Given the description of an element on the screen output the (x, y) to click on. 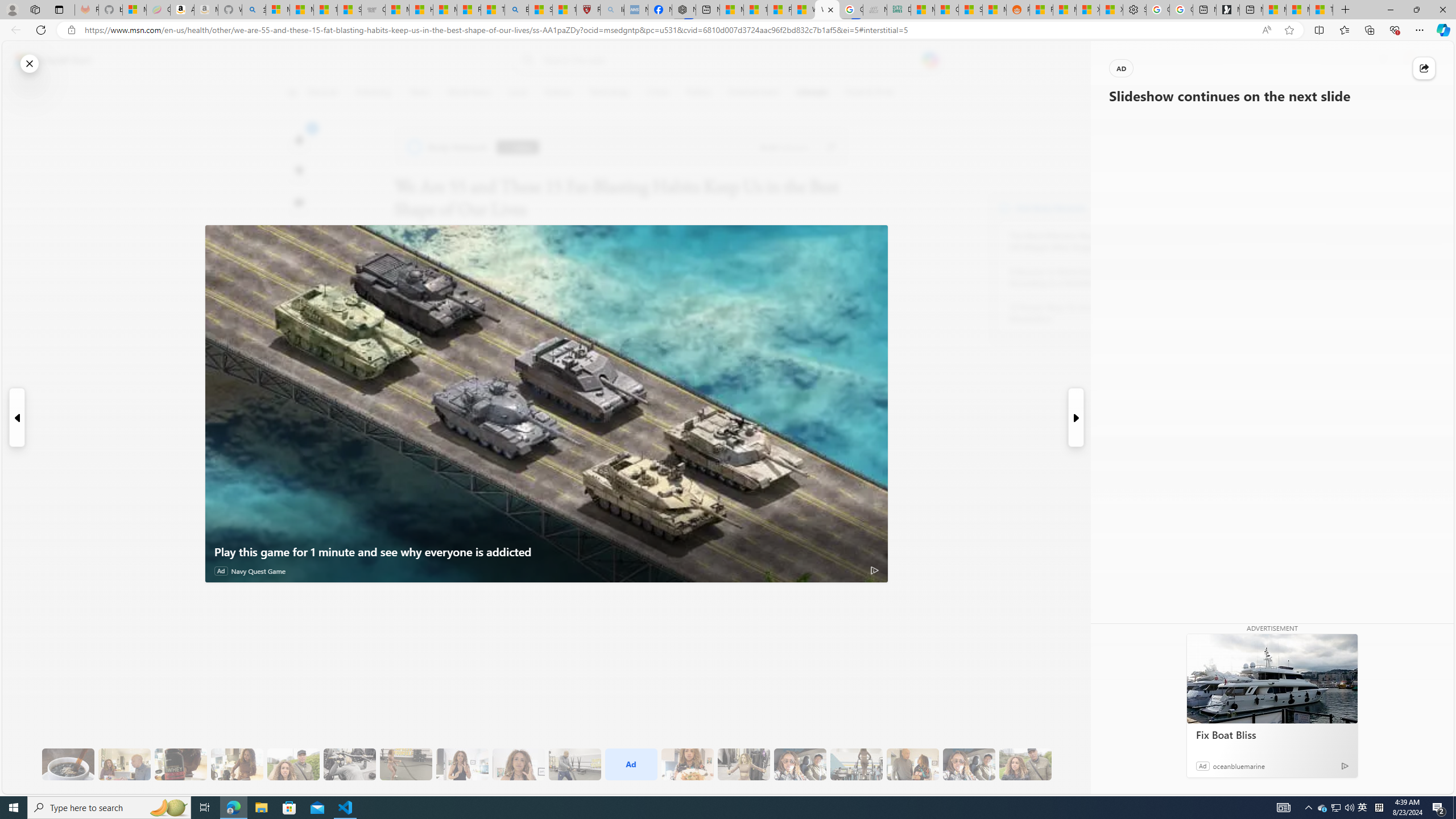
10 Then, They Do HIIT Cardio (406, 764)
8 Be Mindful of Coffee (68, 764)
7 They Don't Skip Meals (237, 764)
